Given the description of an element on the screen output the (x, y) to click on. 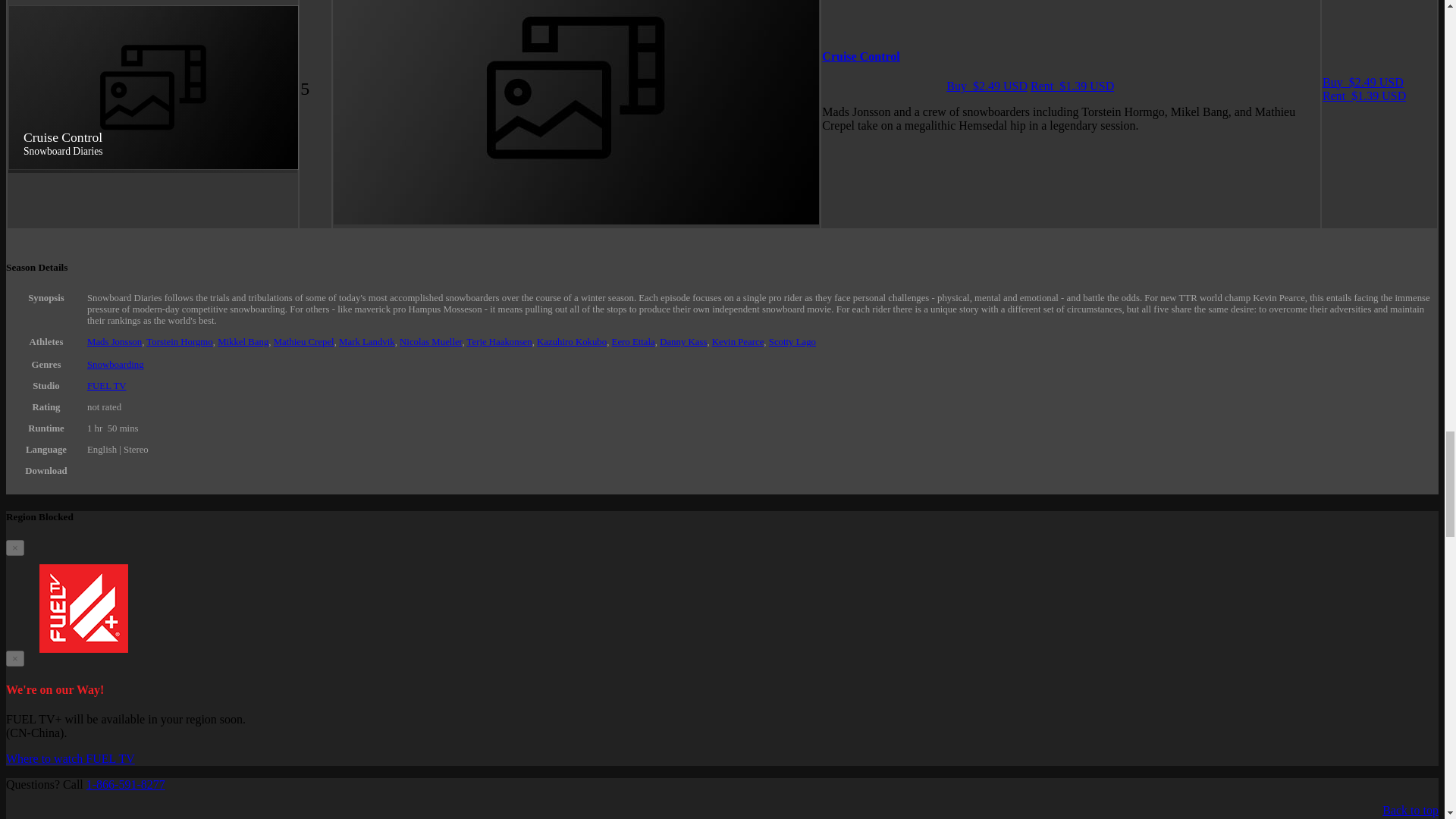
Cruise Control (860, 56)
